Given the description of an element on the screen output the (x, y) to click on. 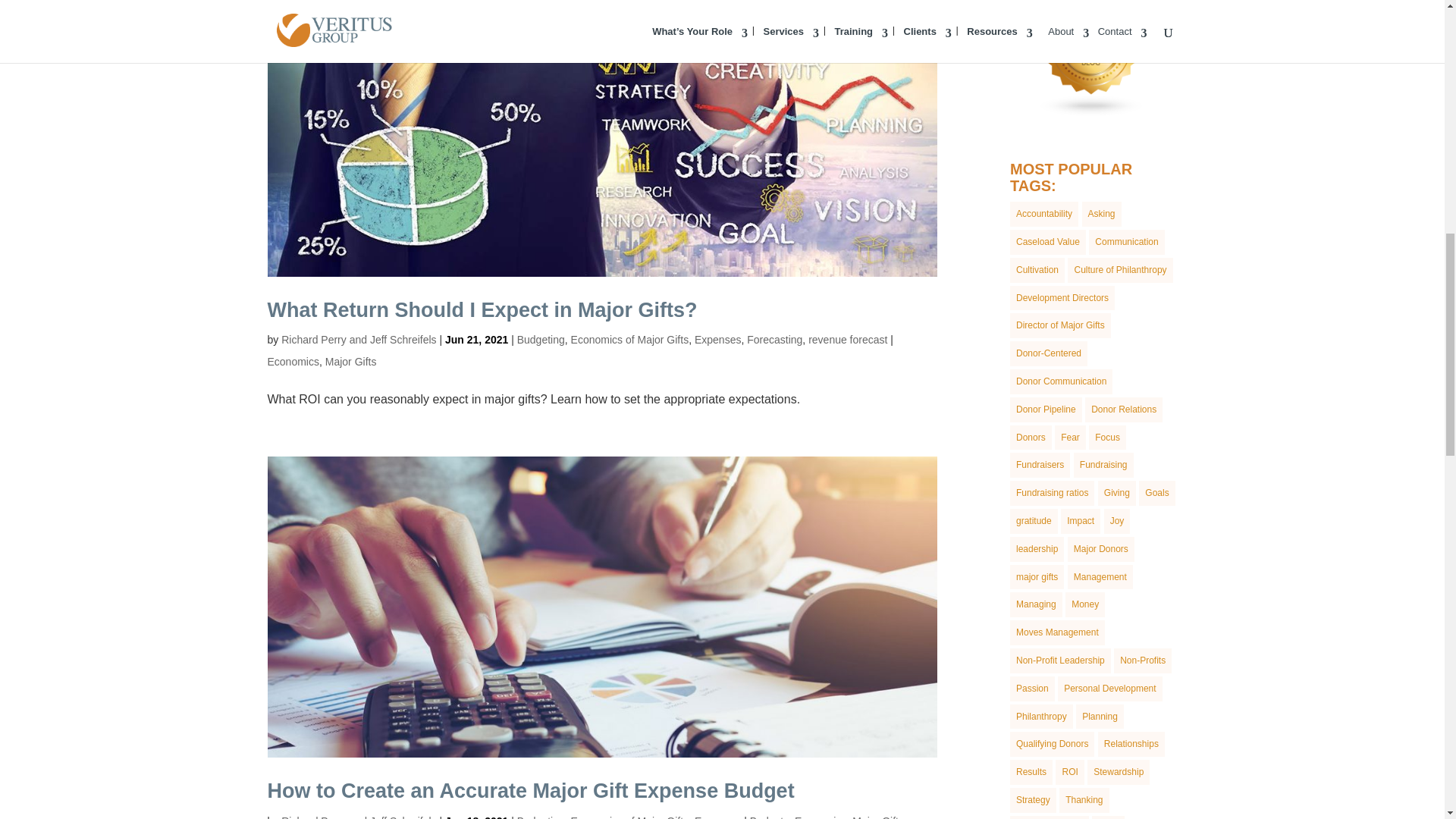
Posts by Richard Perry and Jeff Schreifels (358, 339)
Posts by Richard Perry and Jeff Schreifels (358, 816)
